Given the description of an element on the screen output the (x, y) to click on. 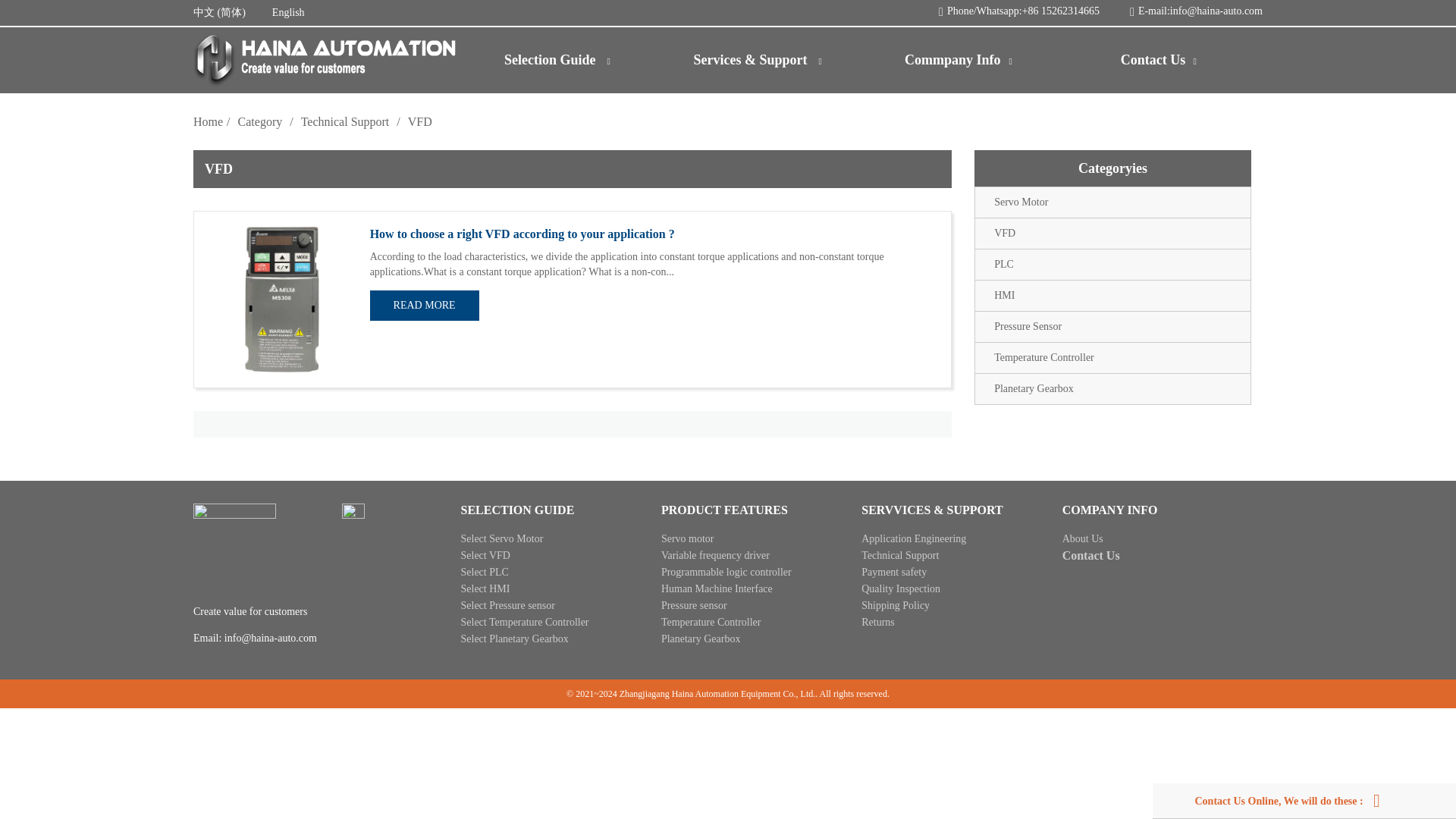
Selection Guide (561, 59)
English (288, 12)
Commpany Info (961, 59)
English (288, 12)
Contact Us (1162, 59)
